Given the description of an element on the screen output the (x, y) to click on. 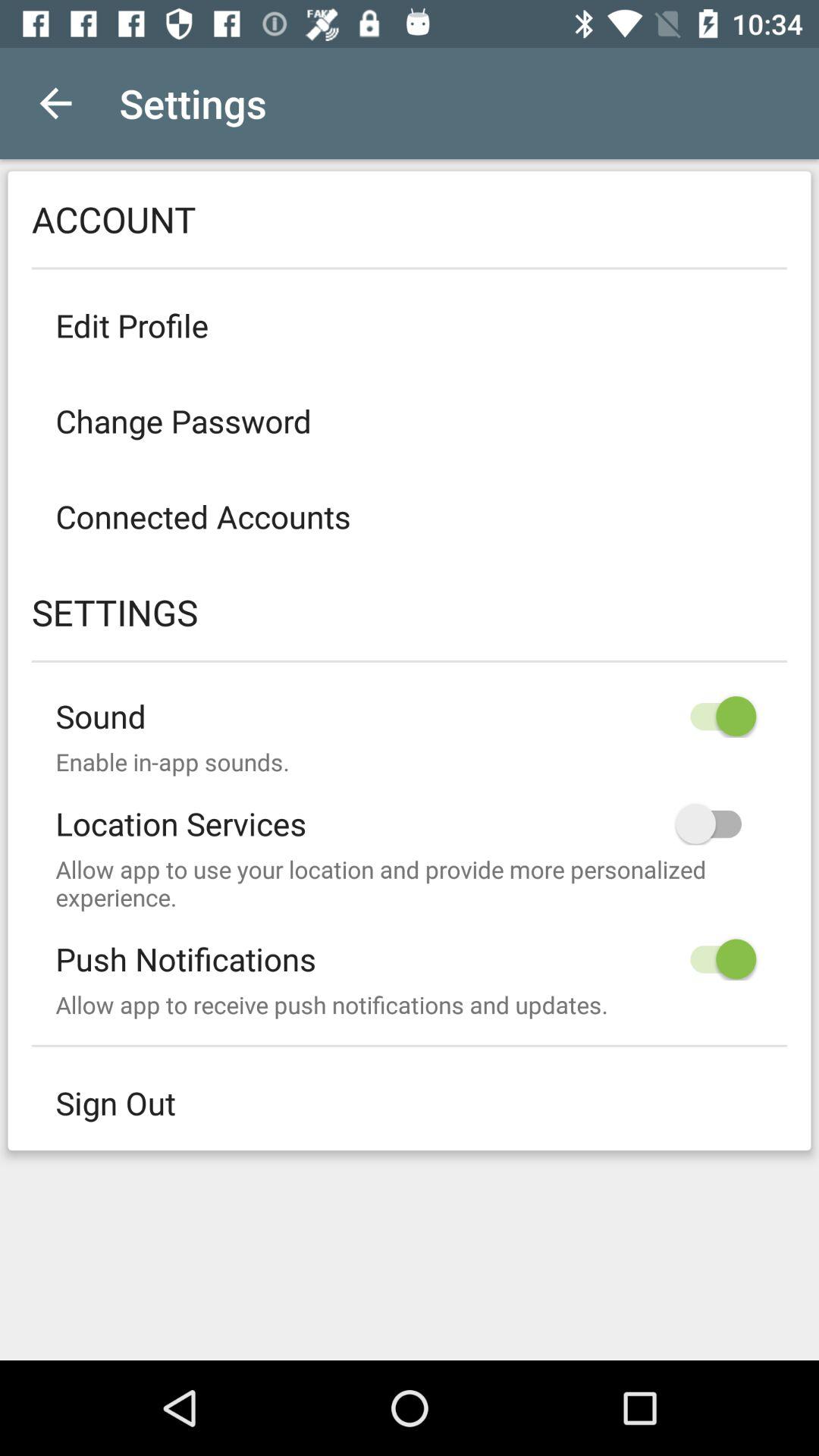
open the sign out icon (409, 1102)
